Given the description of an element on the screen output the (x, y) to click on. 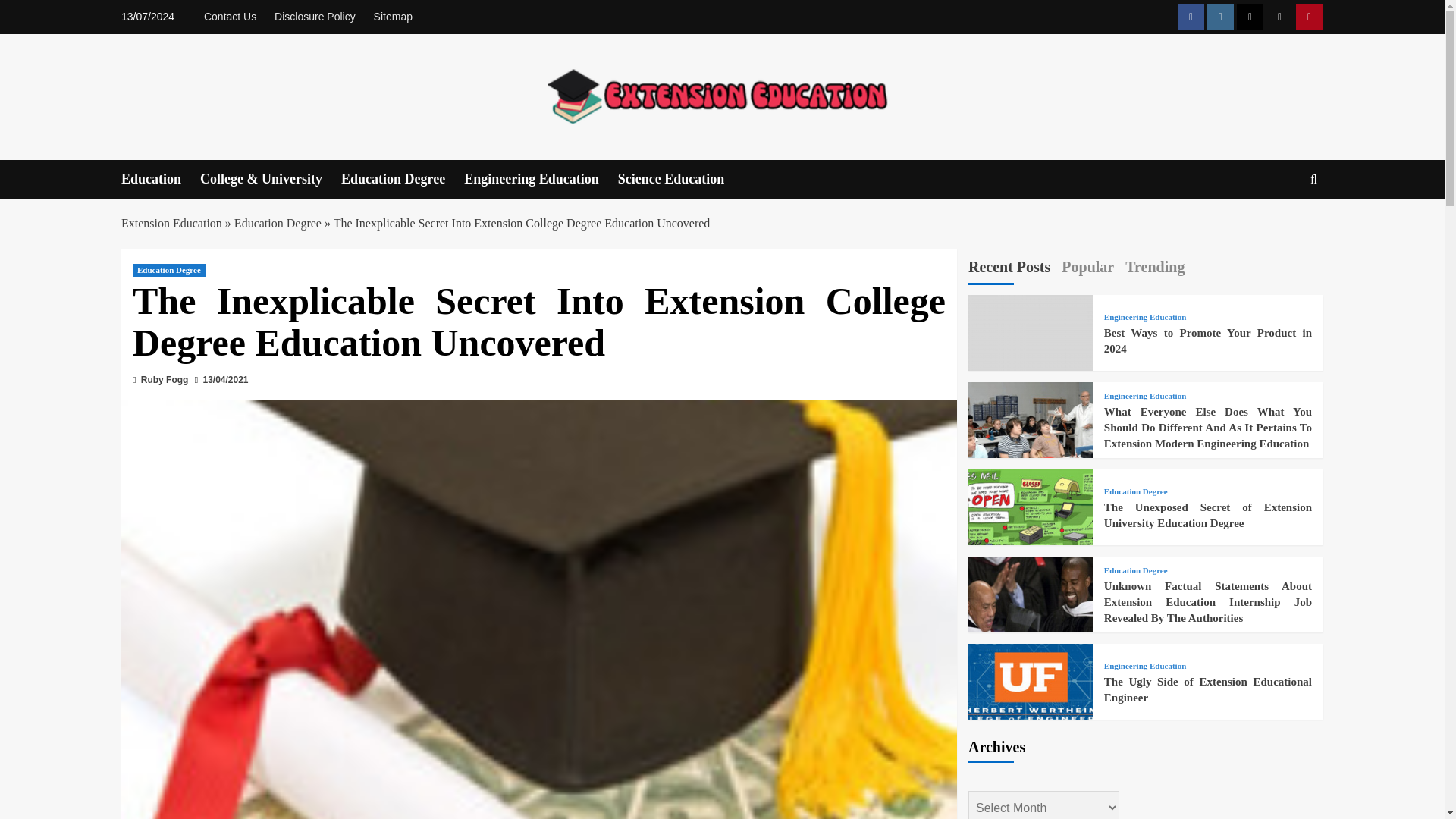
Education Degree (277, 223)
TikTok (1279, 17)
The Ugly Side of Extension Educational Engineer (1030, 705)
Twitter (1249, 17)
Instagram (1220, 17)
Science Education (680, 179)
Education (160, 179)
Contact Us (233, 17)
Extension Education (171, 223)
Sitemap (393, 17)
Disclosure Policy (314, 17)
Best Ways to Promote Your Product in 2024 (1030, 356)
Education Degree (402, 179)
